Given the description of an element on the screen output the (x, y) to click on. 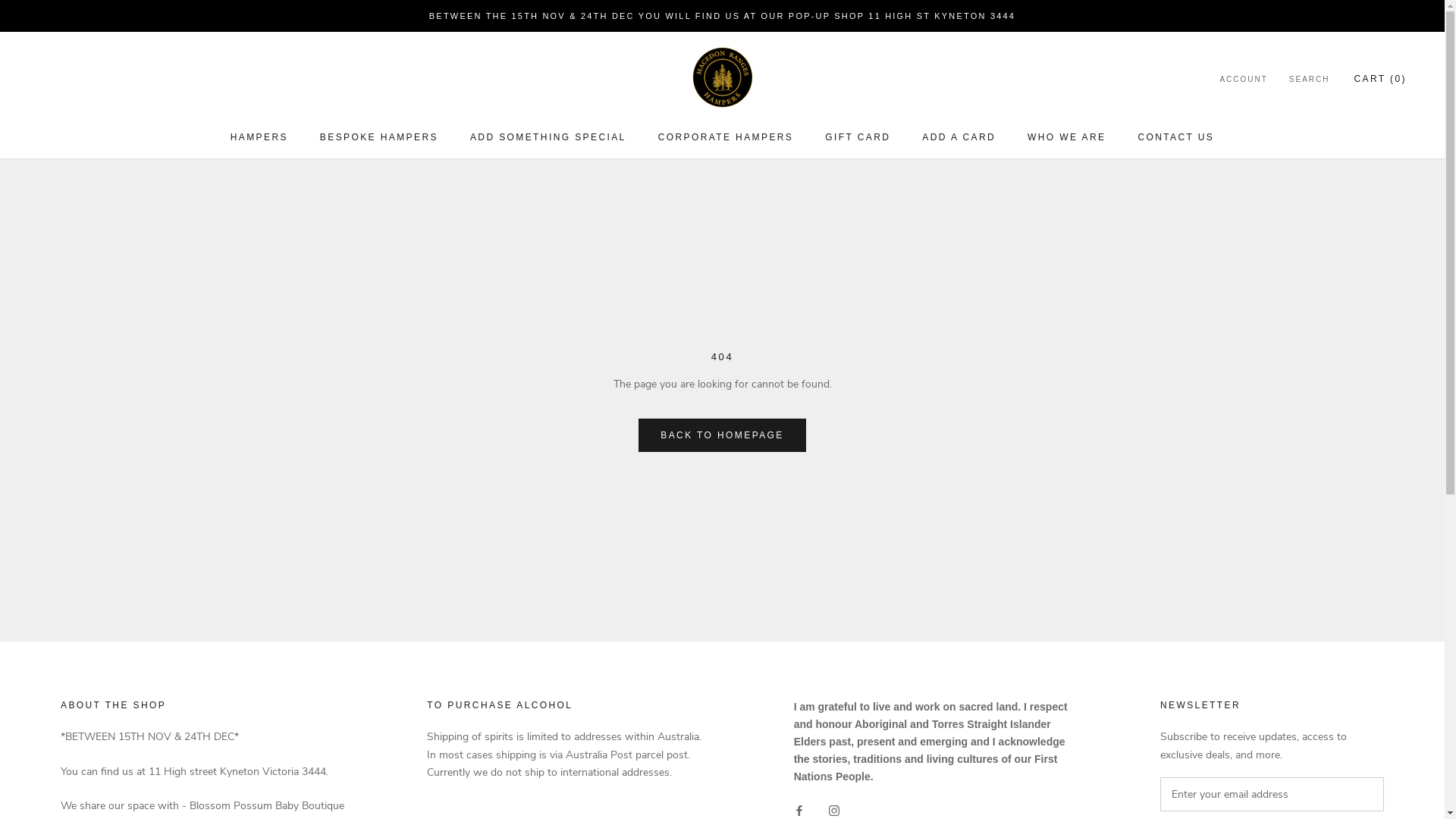
ACCOUNT Element type: text (1243, 79)
BESPOKE HAMPERS Element type: text (379, 136)
CART (0) Element type: text (1380, 78)
HAMPERS
HAMPERS Element type: text (259, 136)
ADD A CARD
ADD A CARD Element type: text (958, 136)
WHO WE ARE
WHO WE ARE Element type: text (1066, 136)
CORPORATE HAMPERS Element type: text (725, 136)
SEARCH Element type: text (1309, 79)
GIFT CARD
GIFT CARD Element type: text (857, 136)
BACK TO HOMEPAGE Element type: text (721, 434)
CONTACT US
CONTACT US Element type: text (1175, 136)
ADD SOMETHING SPECIAL Element type: text (548, 136)
